Given the description of an element on the screen output the (x, y) to click on. 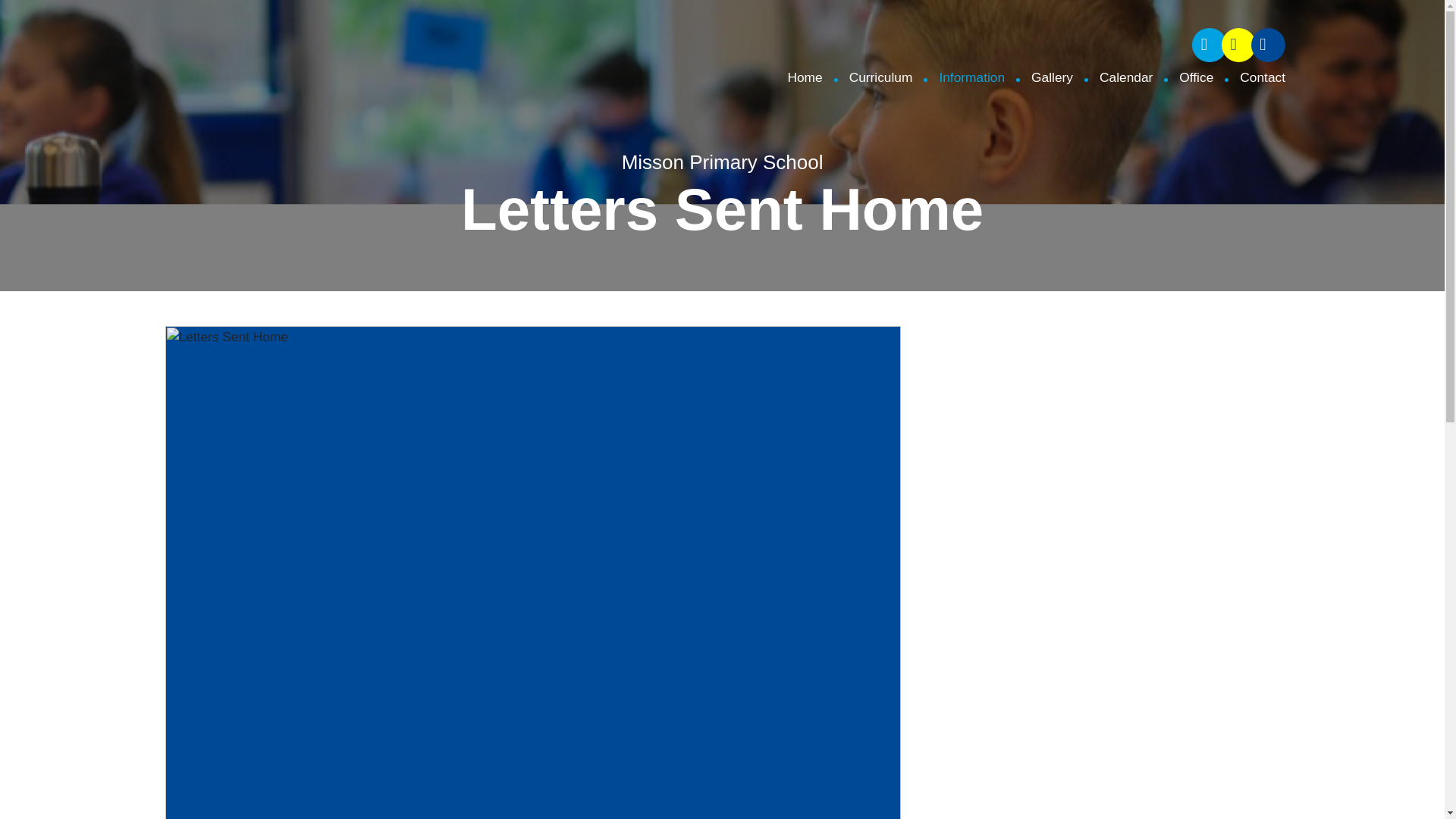
Office (1182, 77)
Calendar (1113, 77)
Contact (1248, 77)
Information (958, 77)
Home (804, 77)
Gallery (1038, 77)
Curriculum (867, 77)
